Given the description of an element on the screen output the (x, y) to click on. 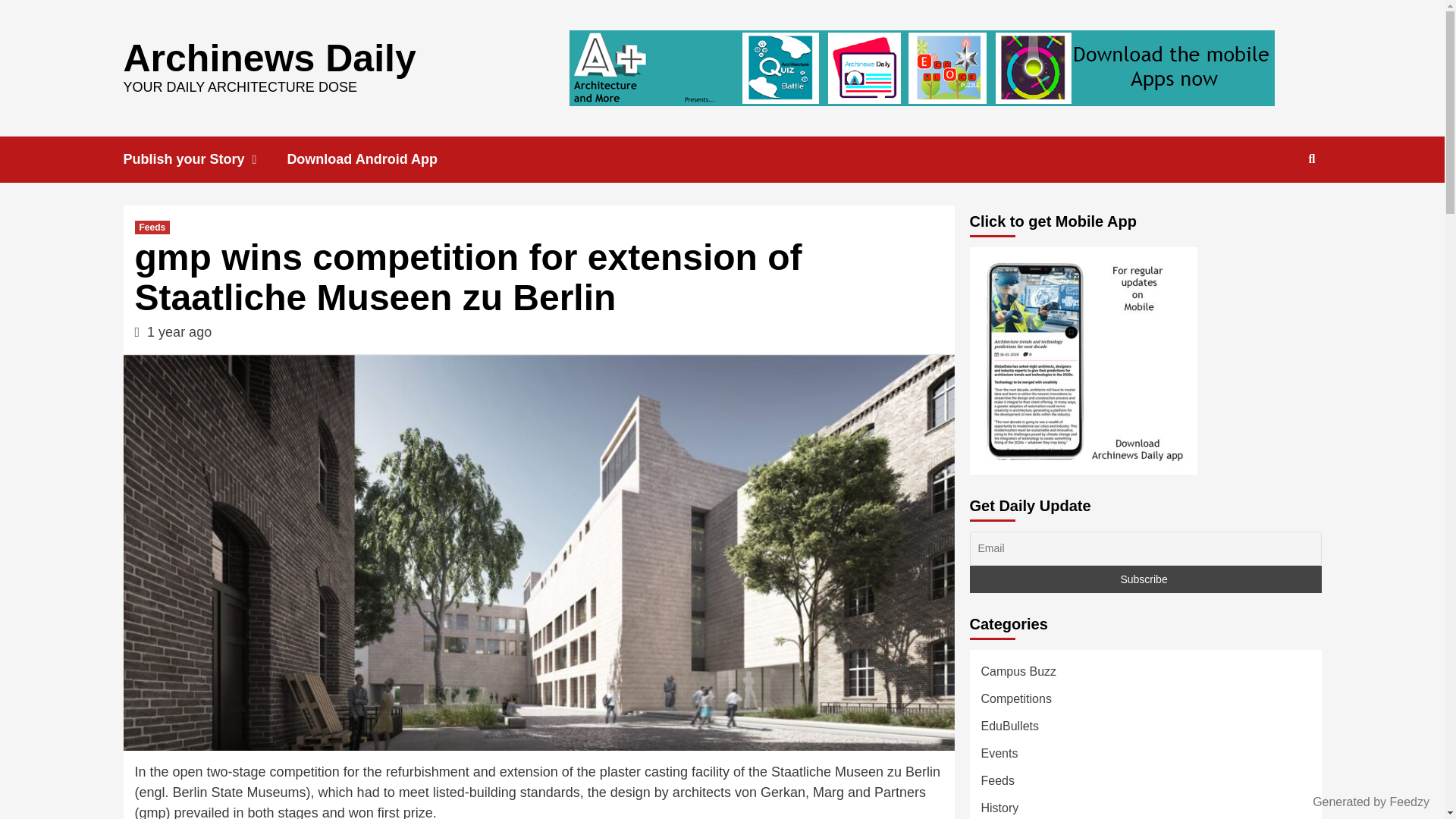
Search (1312, 158)
Download Android App (373, 159)
1 year ago (179, 331)
Click to get Mobile App (1082, 361)
Feeds (152, 227)
Search (1276, 207)
Publish your Story (204, 159)
Subscribe  (1144, 578)
Archinews Daily (268, 57)
